Given the description of an element on the screen output the (x, y) to click on. 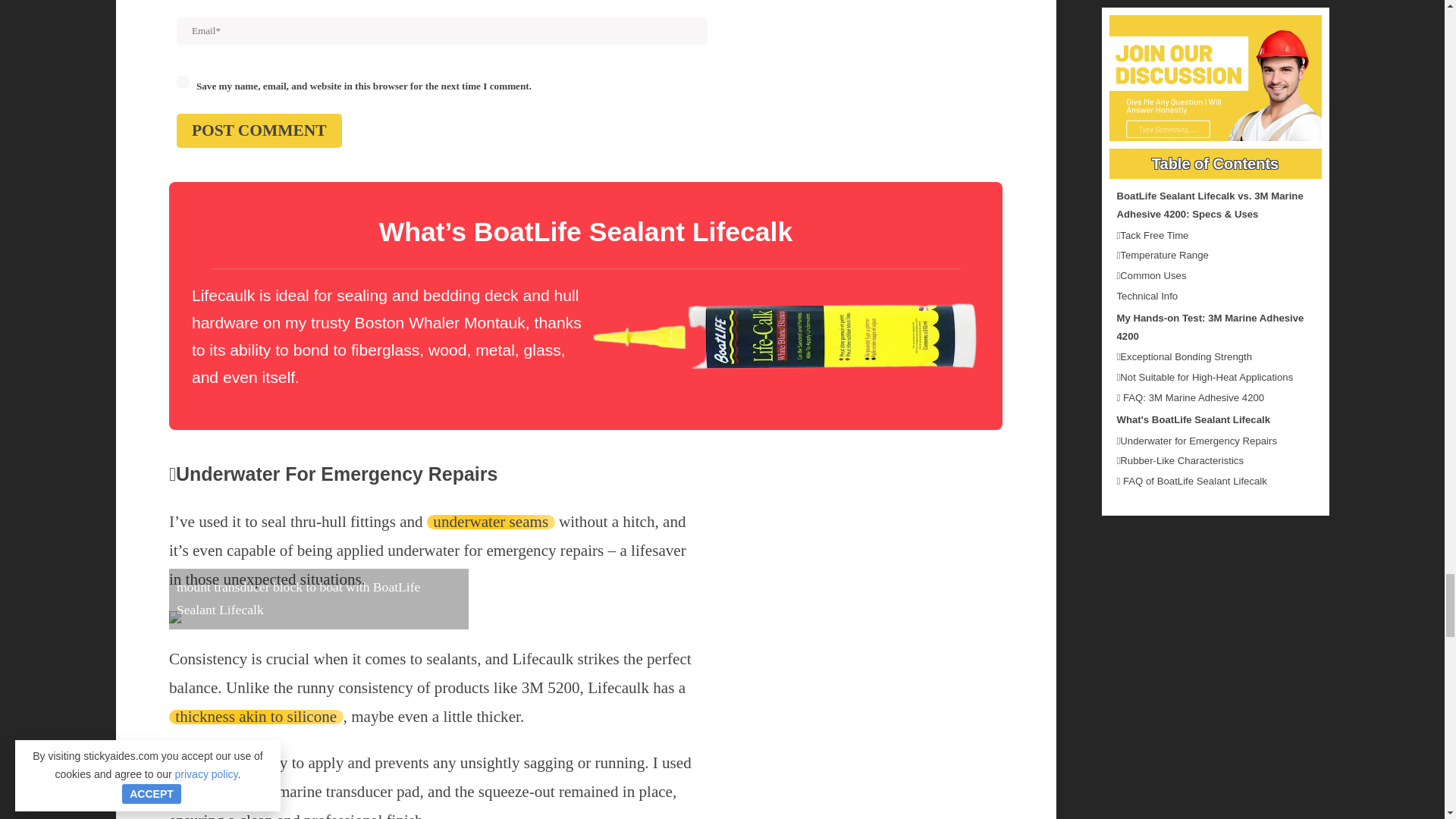
yes (182, 81)
Post Comment (259, 130)
Post Comment (259, 130)
